Given the description of an element on the screen output the (x, y) to click on. 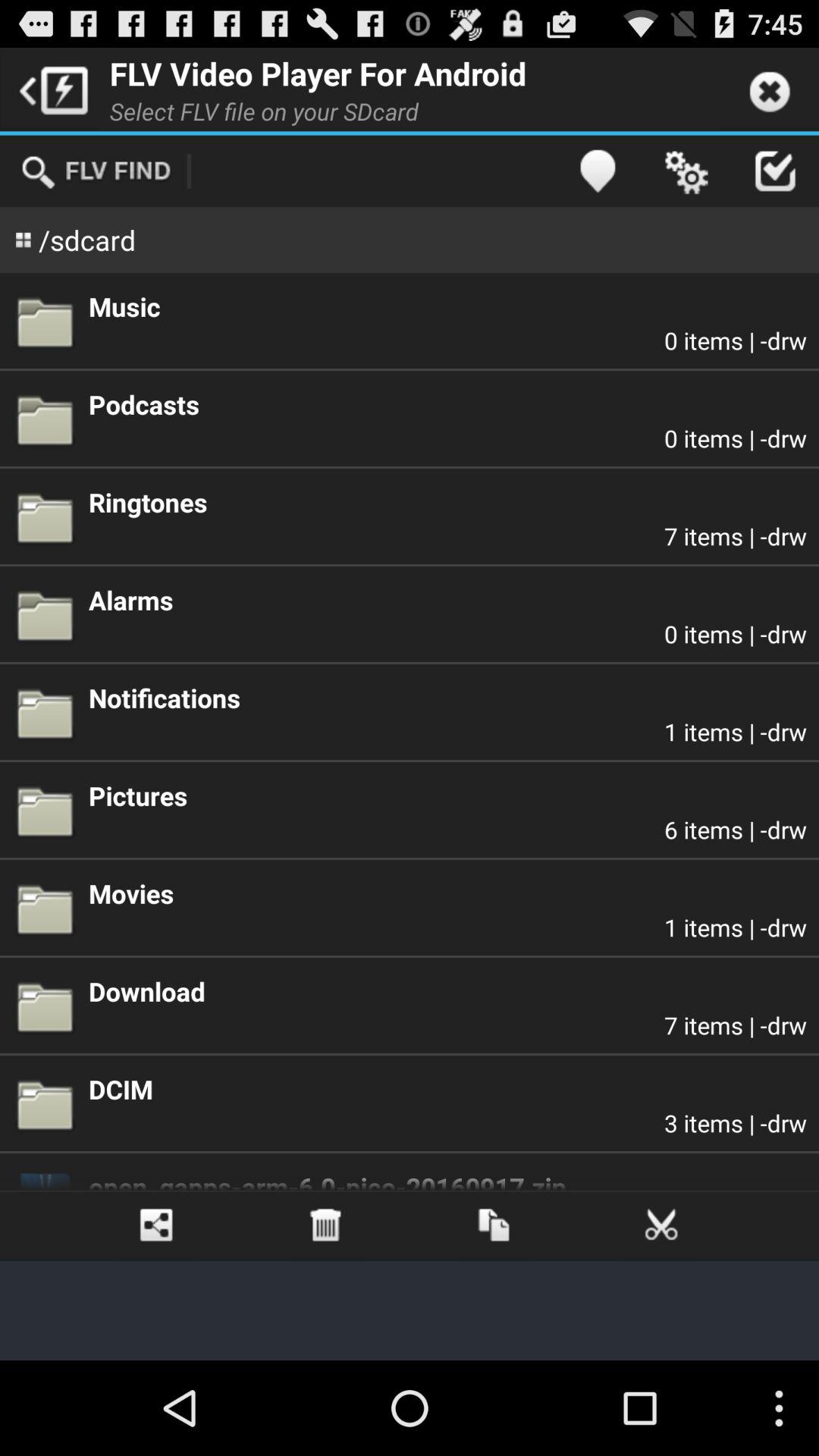
turn on item above music item (685, 171)
